Given the description of an element on the screen output the (x, y) to click on. 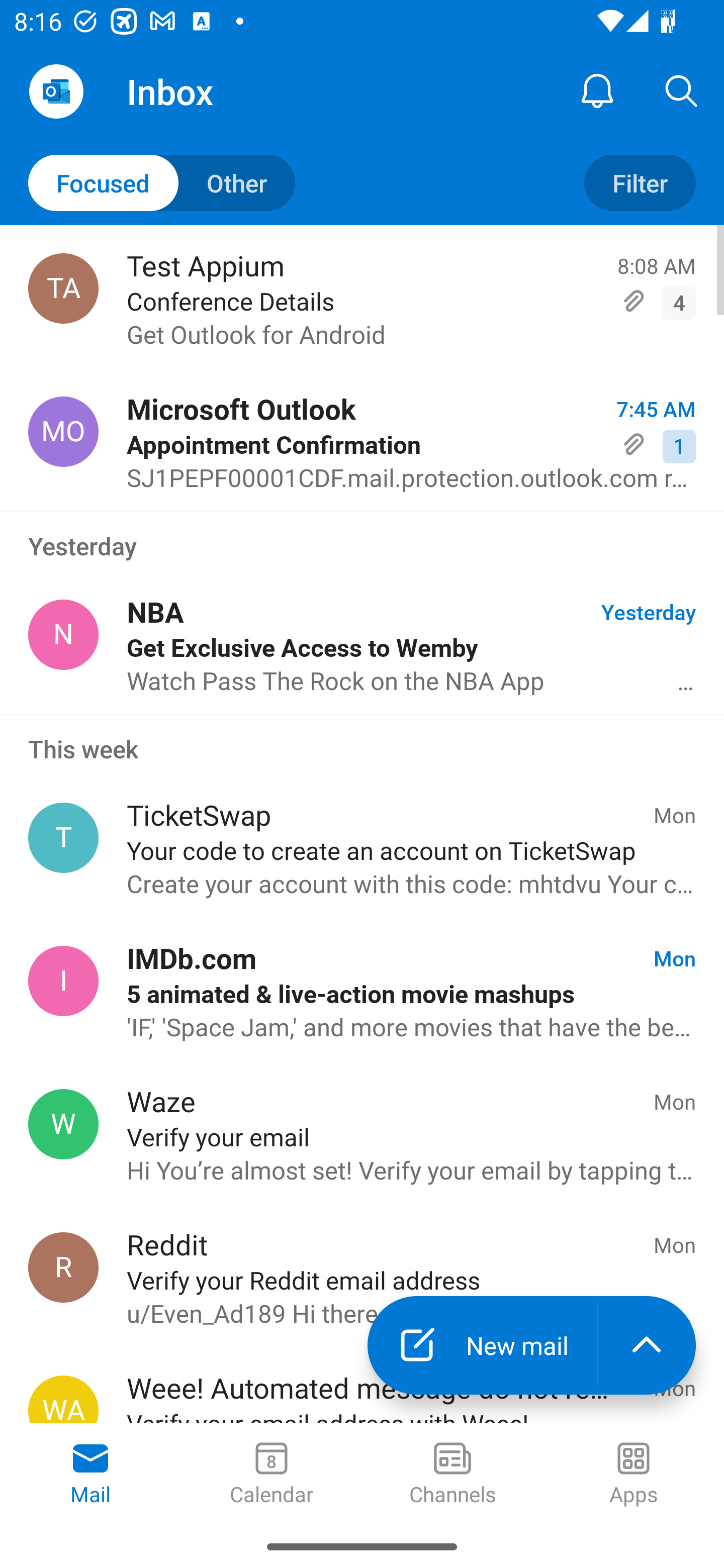
Notification Center (597, 90)
Search, ,  (681, 90)
Open Navigation Drawer (55, 91)
Toggle to other mails (161, 183)
Filter (639, 183)
Test Appium, testappium002@outlook.com (63, 288)
NBA, NBA@email.nba.com (63, 633)
TicketSwap, info@ticketswap.com (63, 837)
IMDb.com, do-not-reply@imdb.com (63, 980)
Waze, noreply@waze.com (63, 1123)
Reddit, noreply@reddit.com (63, 1267)
New mail (481, 1344)
launch the extended action menu (646, 1344)
Calendar (271, 1474)
Channels (452, 1474)
Apps (633, 1474)
